Given the description of an element on the screen output the (x, y) to click on. 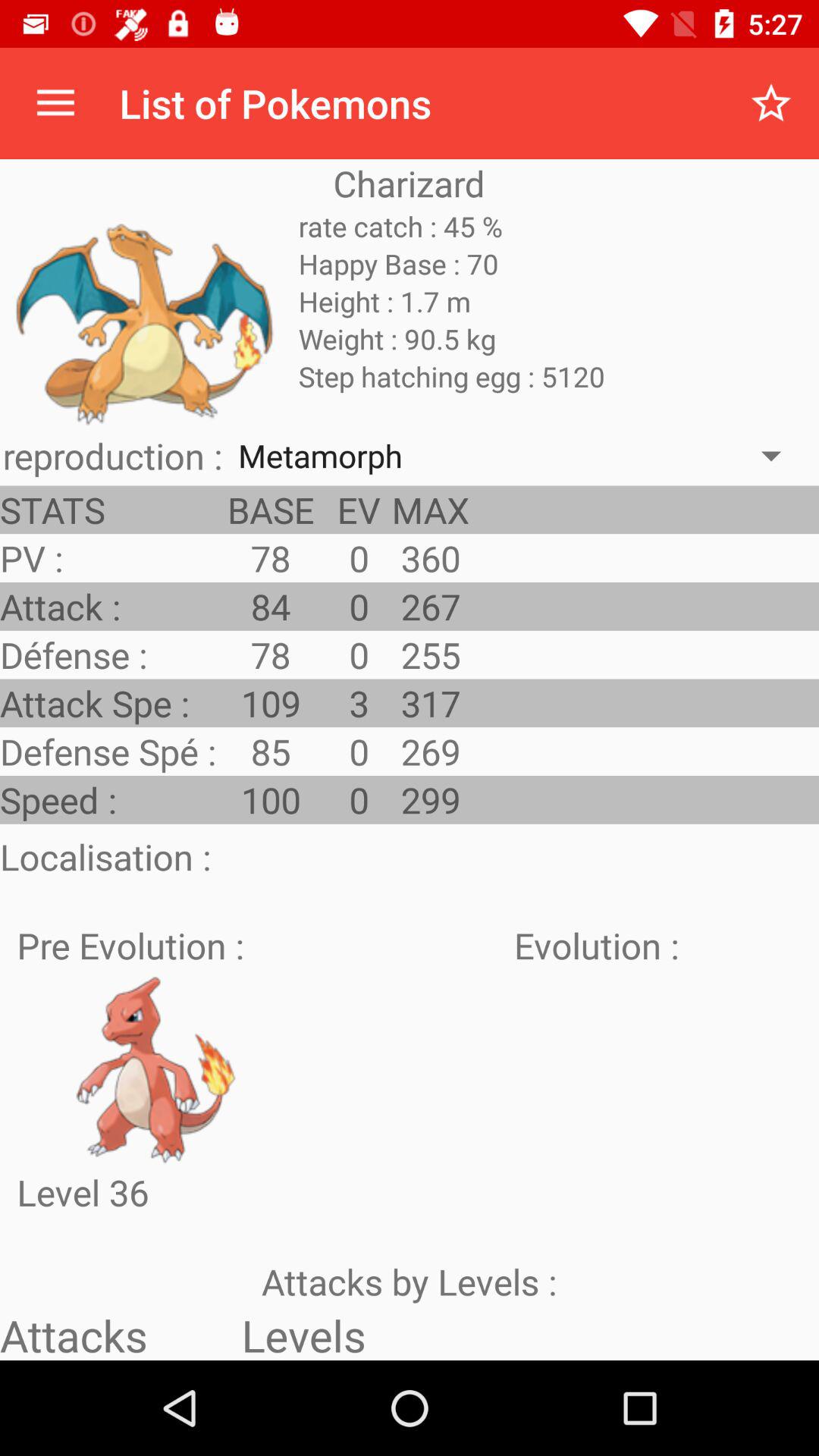
go to item (155, 1068)
